Given the description of an element on the screen output the (x, y) to click on. 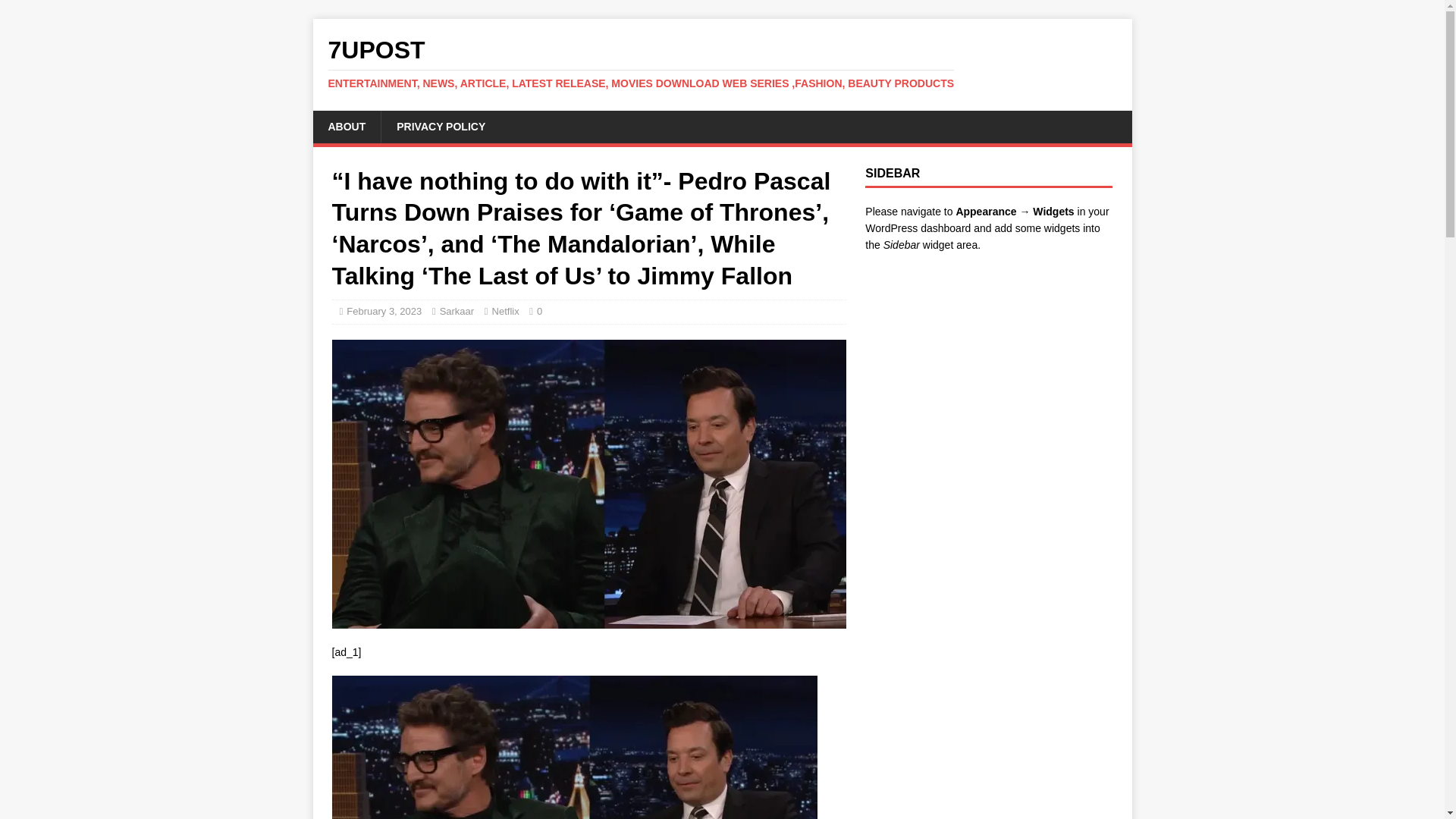
February 3, 2023 (384, 310)
Sarkaar (456, 310)
ABOUT (346, 126)
PRIVACY POLICY (440, 126)
Netflix (505, 310)
7upost (721, 63)
